Given the description of an element on the screen output the (x, y) to click on. 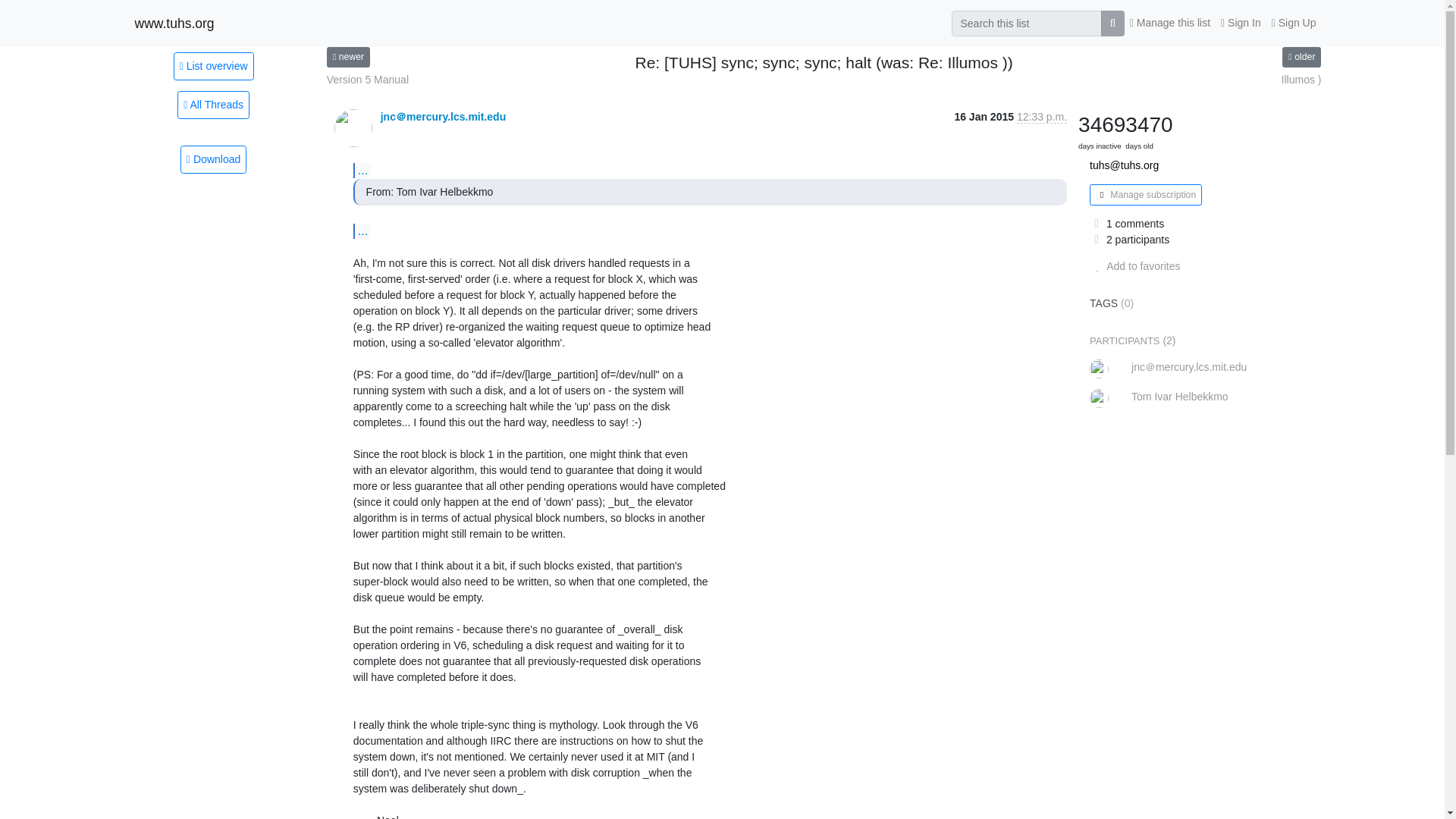
older (1301, 56)
This thread in gzipped mbox format (213, 159)
Version 5 Manual (367, 79)
Version 5 Manual (367, 79)
You must be logged-in to have favorites. (1134, 265)
List overview (213, 65)
Version 5 Manual (347, 56)
Sender's time: Jan. 16, 2015, 7:33 a.m. (1041, 116)
All Threads (212, 104)
Download (213, 159)
Sign Up (1294, 22)
newer (347, 56)
Sign In (1240, 22)
www.tuhs.org (174, 22)
Manage this list (1169, 22)
